Given the description of an element on the screen output the (x, y) to click on. 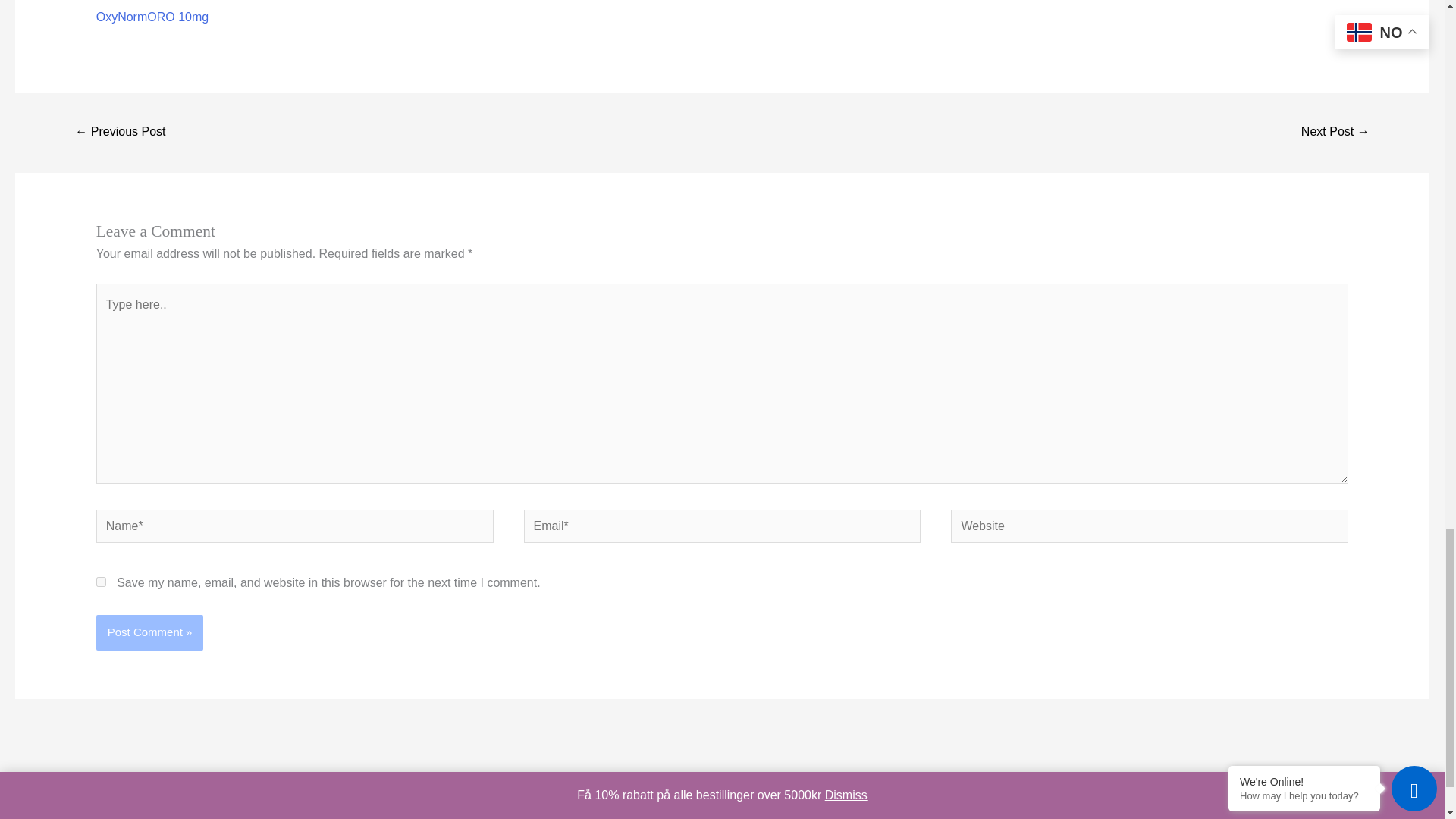
yes (101, 581)
OxyNormORO 10mg (152, 16)
Adderall Addiction Signs (119, 132)
Is Adderall Still On Backorder (1334, 132)
